Given the description of an element on the screen output the (x, y) to click on. 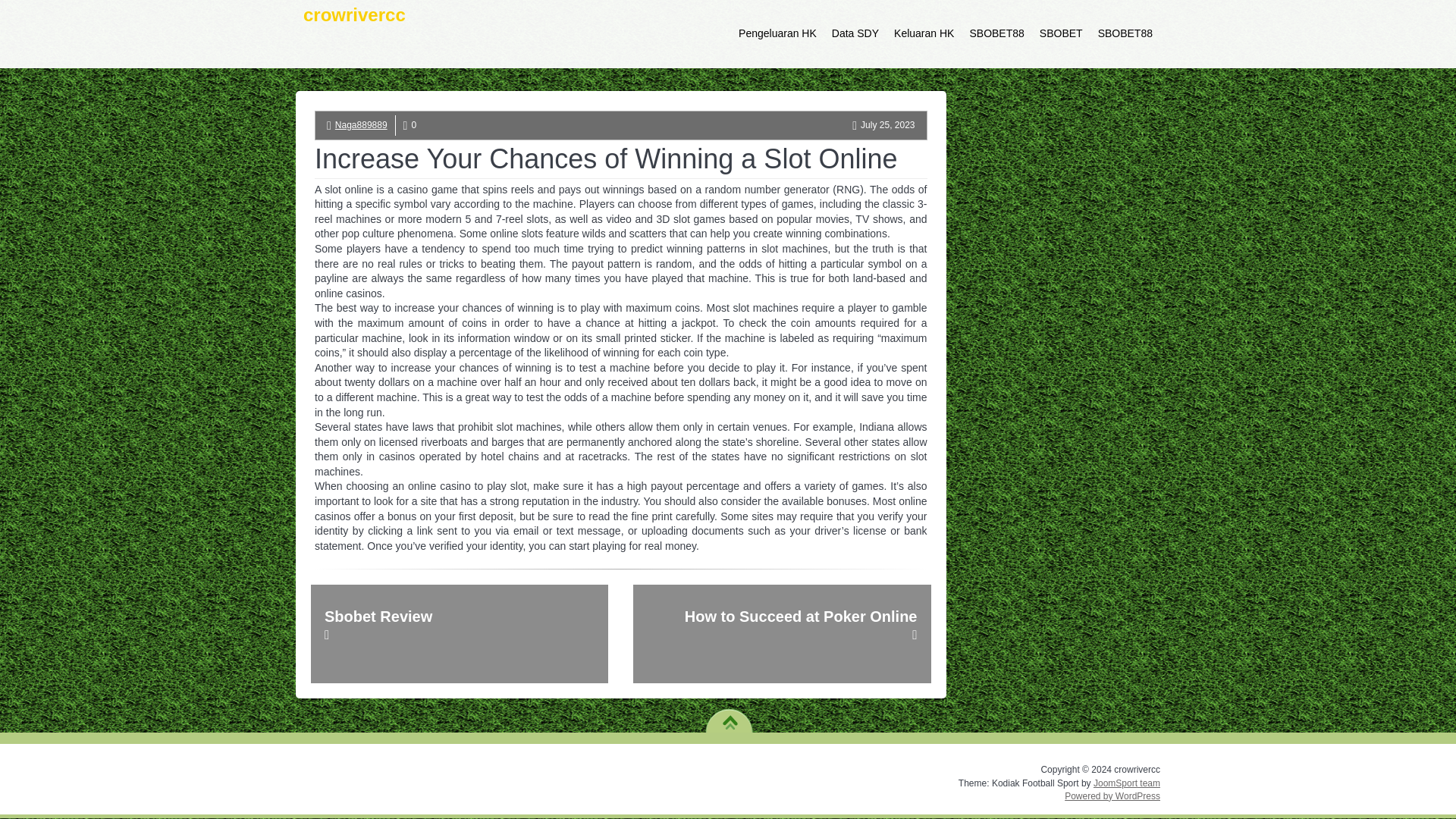
Keluaran HK (923, 33)
SBOBET88 (1125, 33)
JoomSport team (1126, 783)
SBOBET88 (1125, 33)
TO TOP (729, 716)
Keluaran HK (923, 33)
How to Succeed at Poker Online (781, 633)
Data SDY (855, 33)
 The Best WordPress Sport Plugin for your league and club  (1126, 783)
SBOBET88 (995, 33)
crowrivercc (354, 33)
Data SDY (855, 33)
Pengeluaran HK (777, 33)
SBOBET88 (995, 33)
Sbobet Review (459, 633)
